Given the description of an element on the screen output the (x, y) to click on. 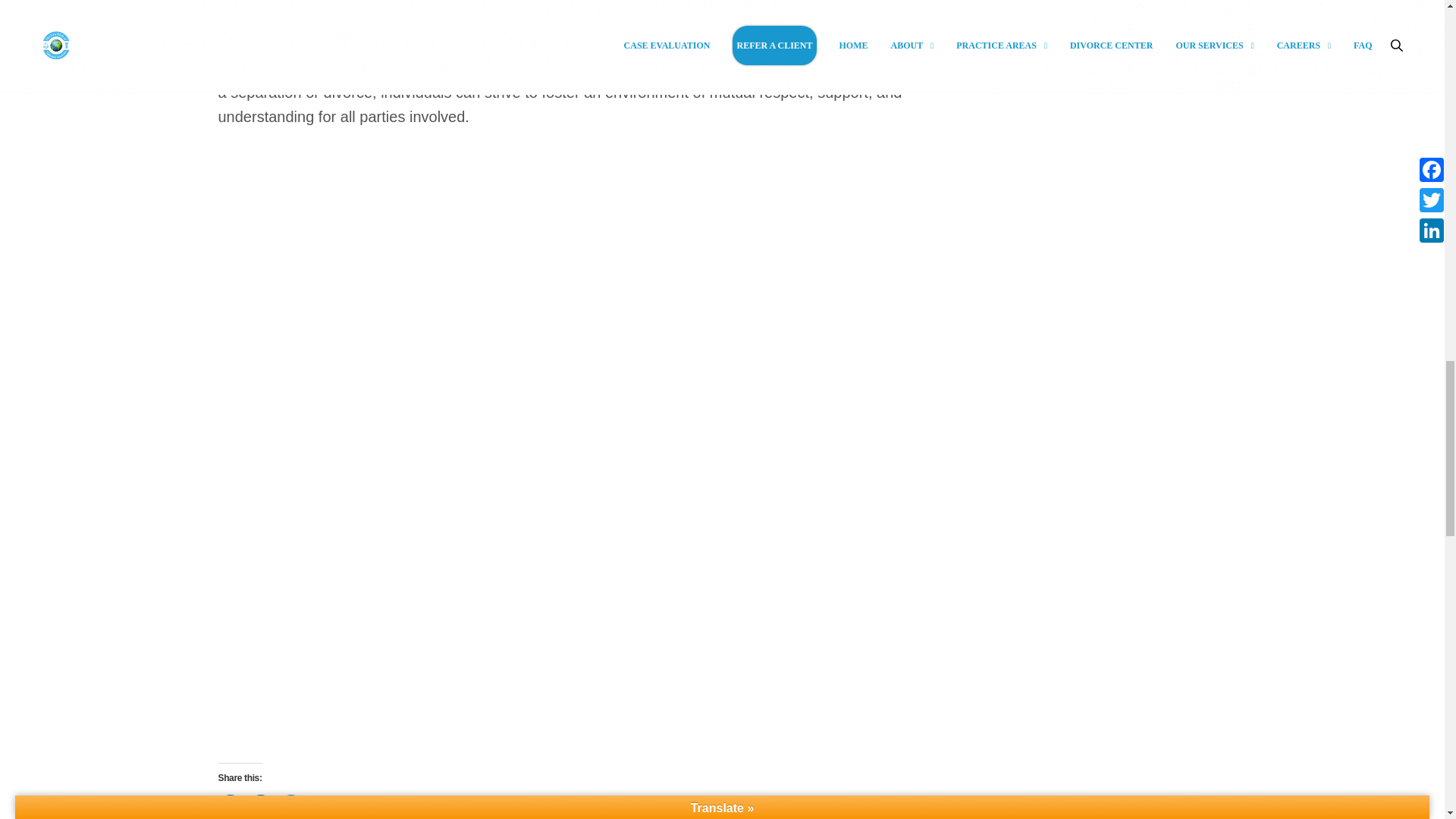
Click to share on Facebook (230, 806)
Click to share on Twitter (290, 806)
Click to share on LinkedIn (260, 806)
